Given the description of an element on the screen output the (x, y) to click on. 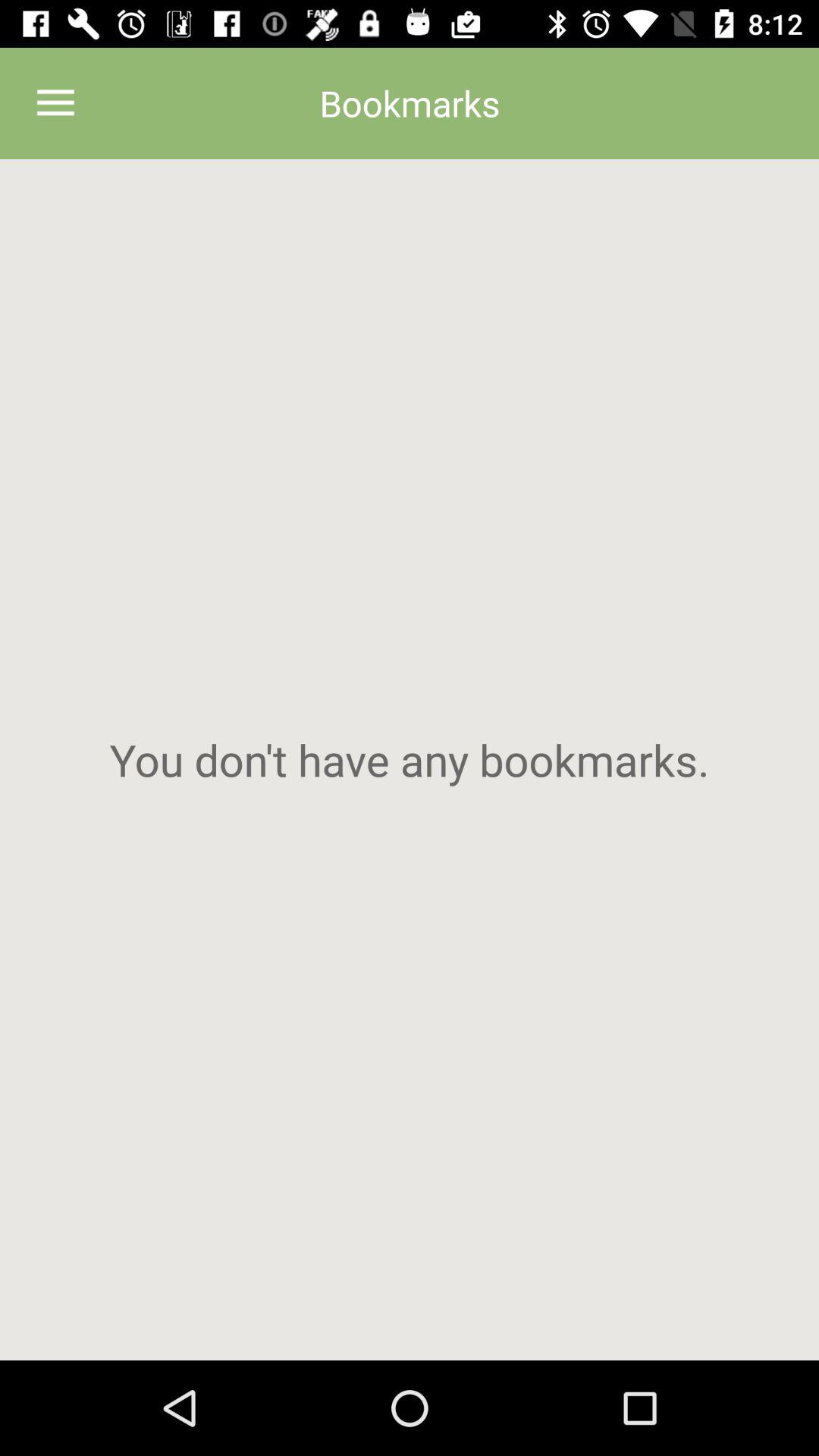
turn on item to the left of the bookmarks icon (55, 103)
